Given the description of an element on the screen output the (x, y) to click on. 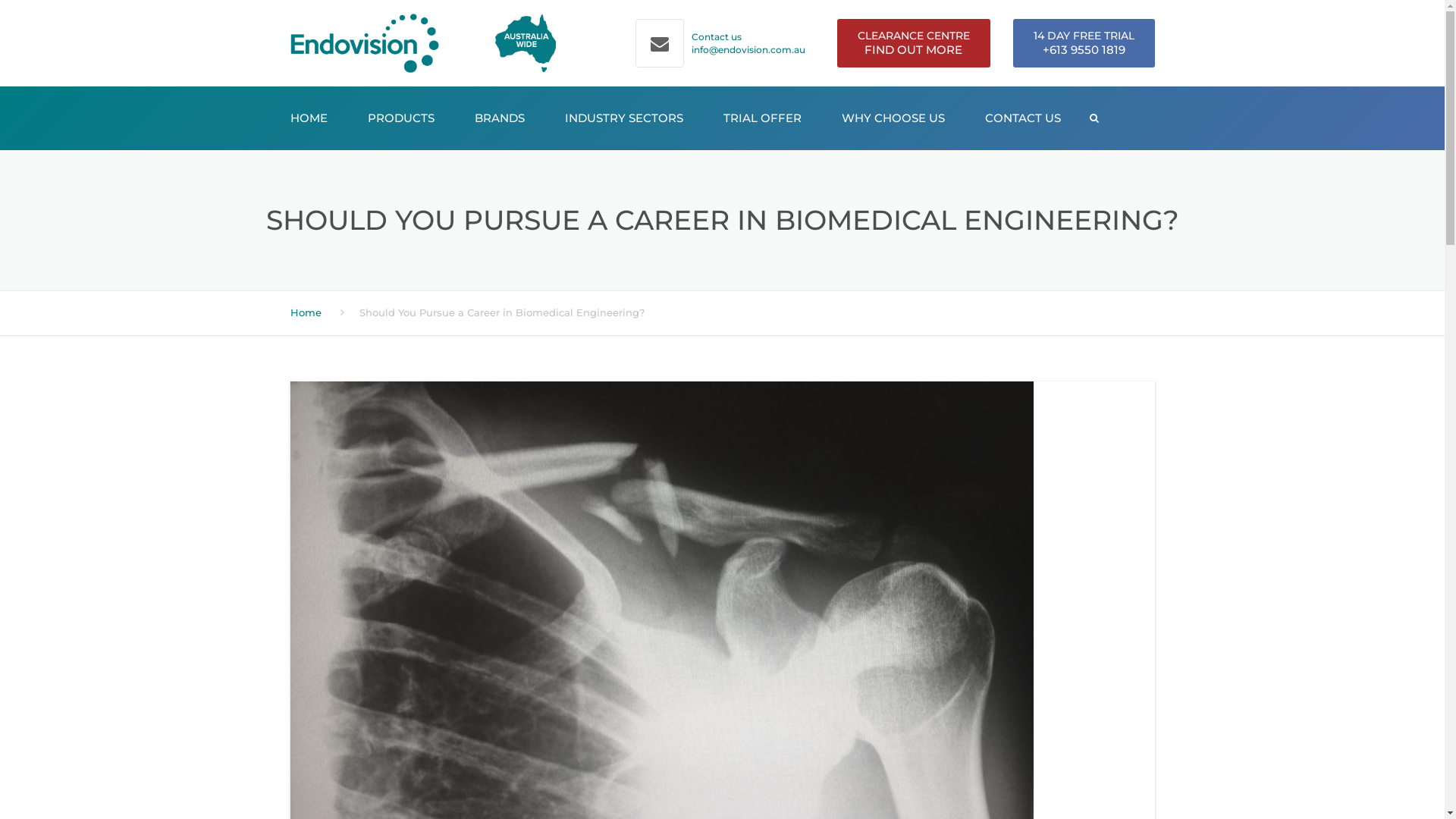
Home Element type: text (304, 312)
INDUSTRY SECTORS Element type: text (624, 118)
+613 9550 1819 Element type: text (1082, 49)
CONTACT US Element type: text (1022, 118)
Contact us
info@endovision.com.au Element type: text (748, 43)
FIND OUT MORE Element type: text (913, 49)
WHY CHOOSE US Element type: text (892, 118)
PRODUCTS Element type: text (400, 118)
BRANDS Element type: text (498, 118)
HOME Element type: text (308, 118)
TRIAL OFFER Element type: text (761, 118)
